Given the description of an element on the screen output the (x, y) to click on. 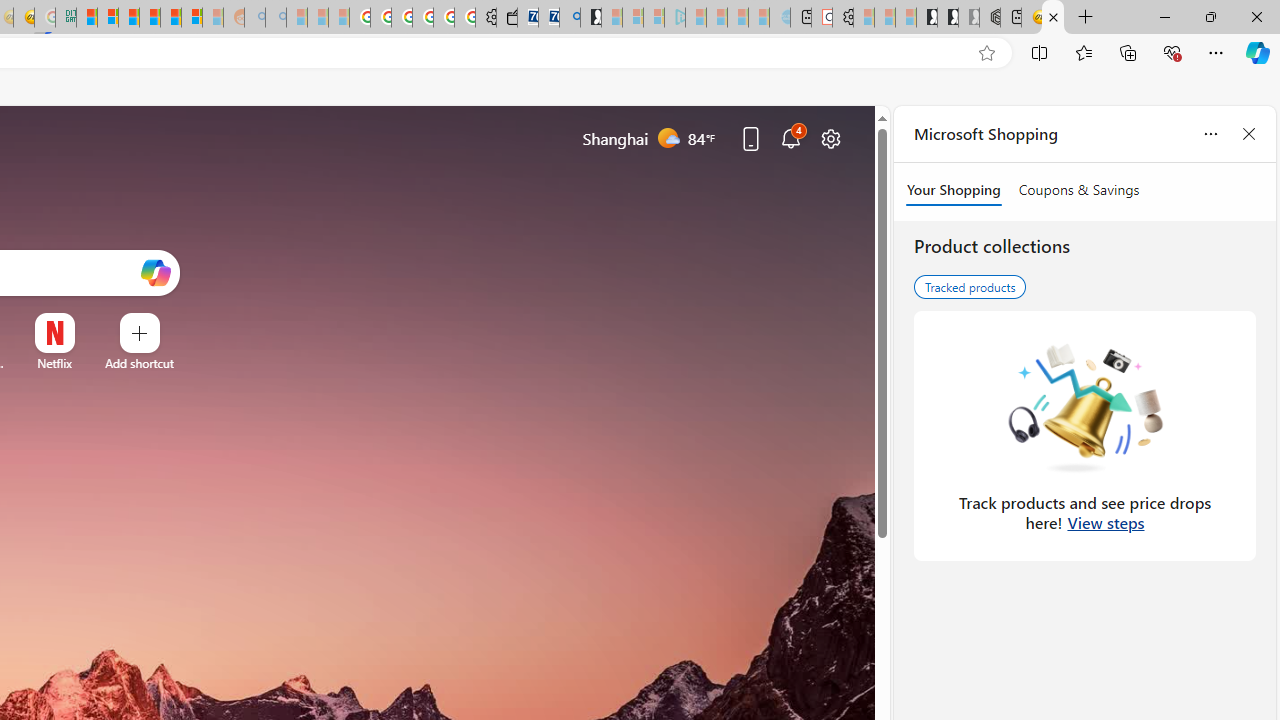
Expert Portfolios (149, 17)
Kinda Frugal - MSN (170, 17)
Page settings (831, 138)
Nordace - Nordace Siena Is Not An Ordinary Backpack (989, 17)
